Given the description of an element on the screen output the (x, y) to click on. 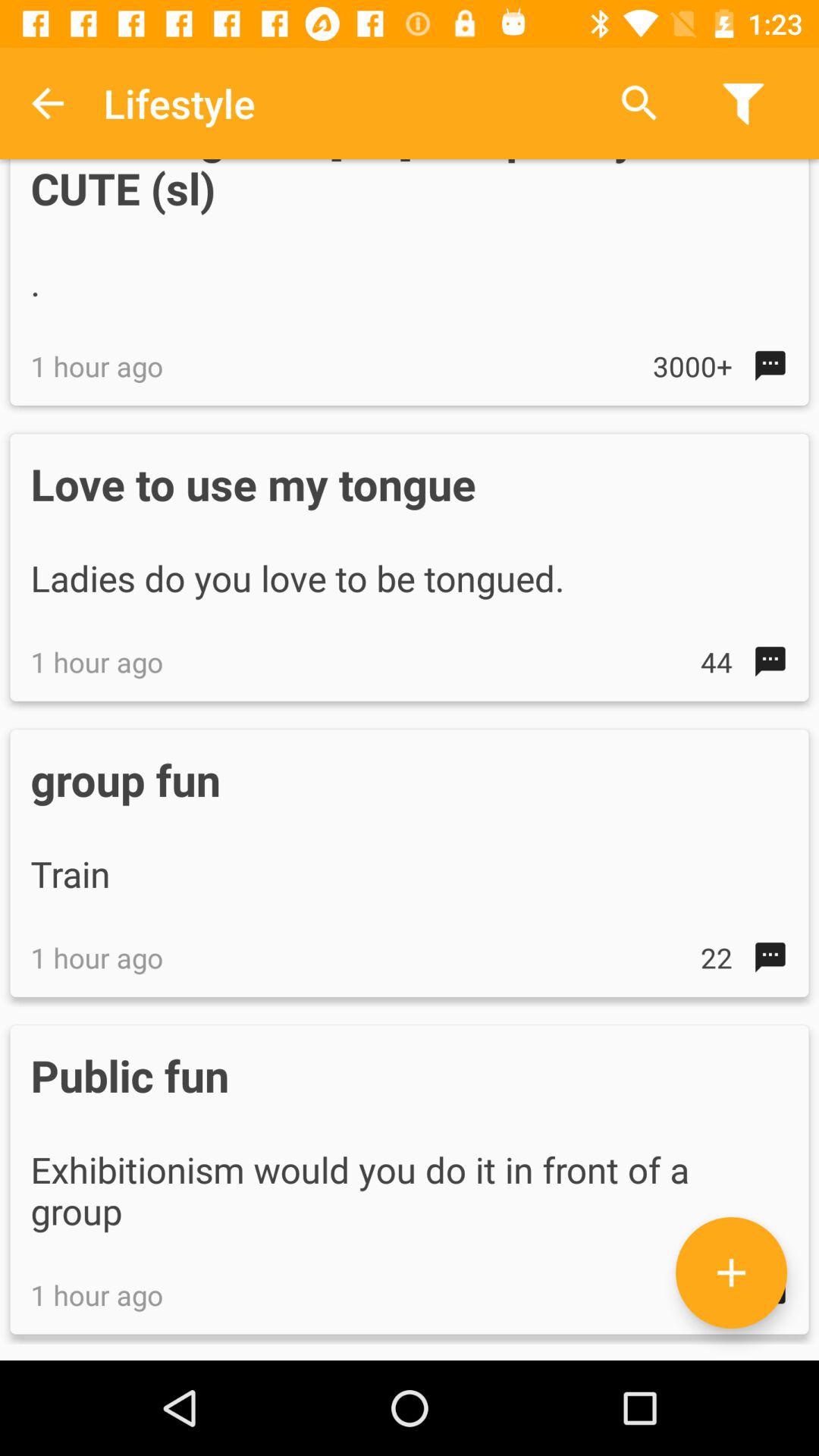
turn on the icon below public fun icon (731, 1272)
